Given the description of an element on the screen output the (x, y) to click on. 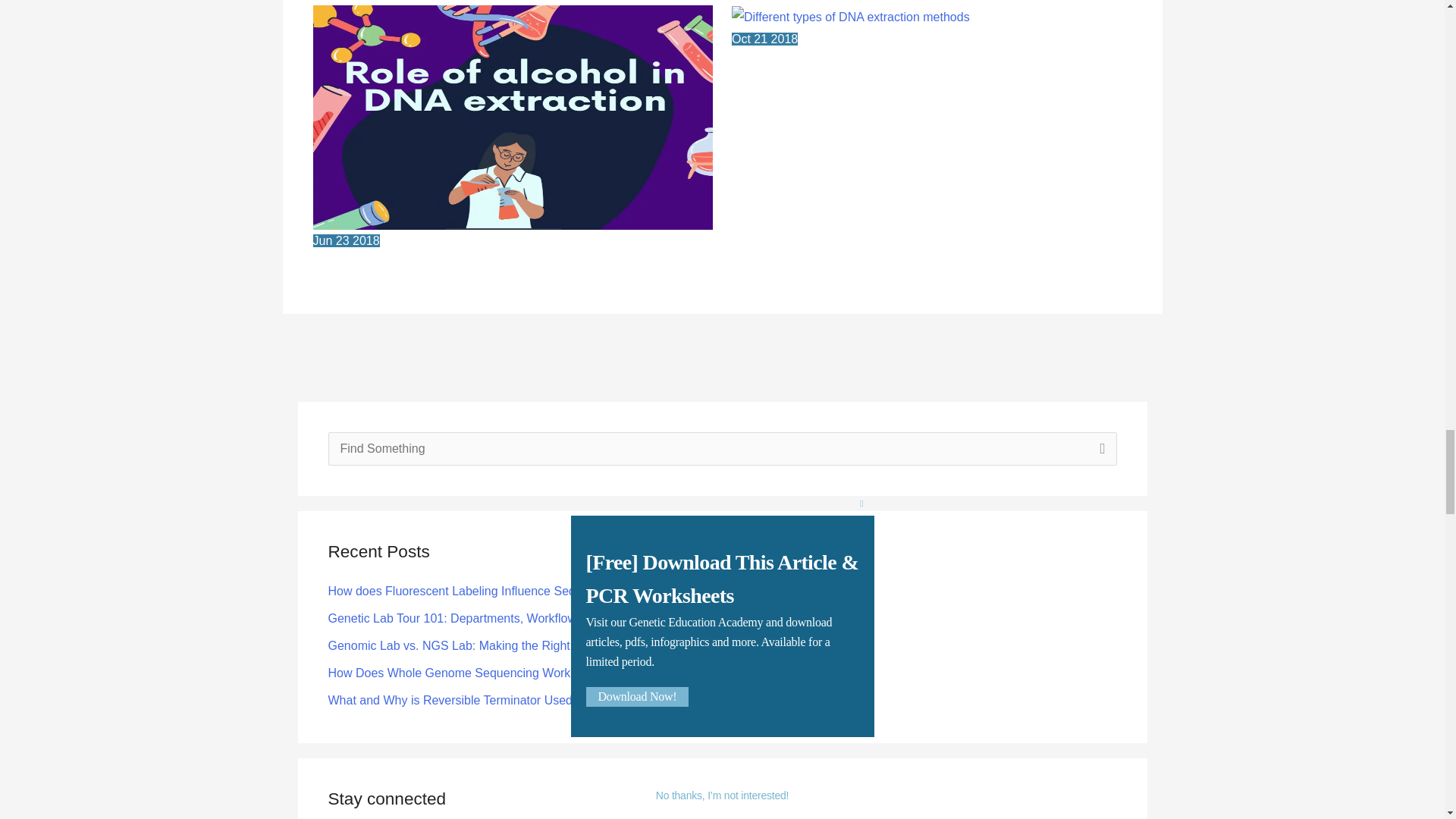
Oct 21 2018 (932, 38)
Jun 23 2018 (513, 241)
